Given the description of an element on the screen output the (x, y) to click on. 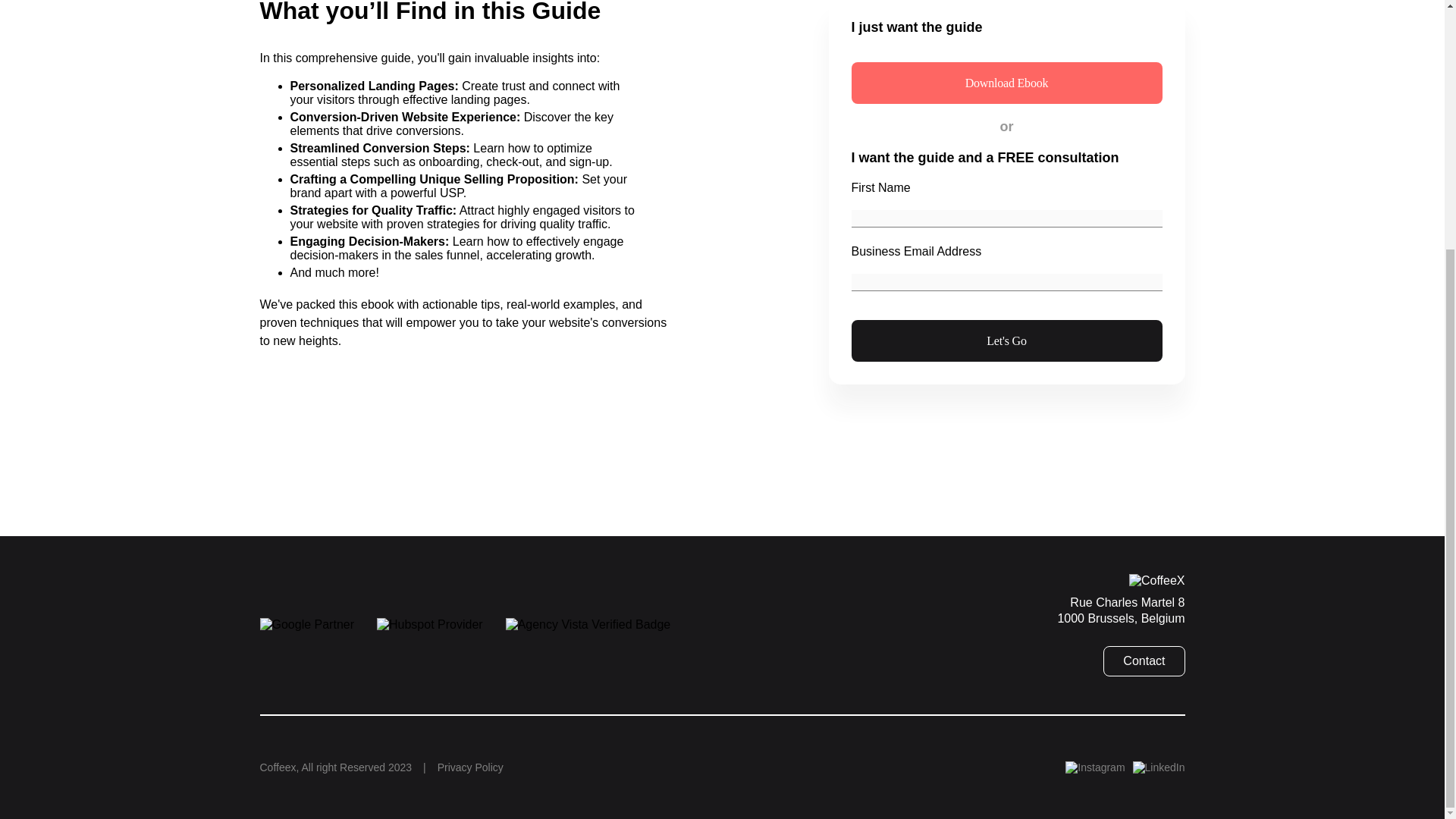
Let's Go (1005, 340)
Privacy Policy (470, 767)
Download Ebook (1005, 82)
Contact (1144, 661)
Download Ebook (1005, 83)
